Given the description of an element on the screen output the (x, y) to click on. 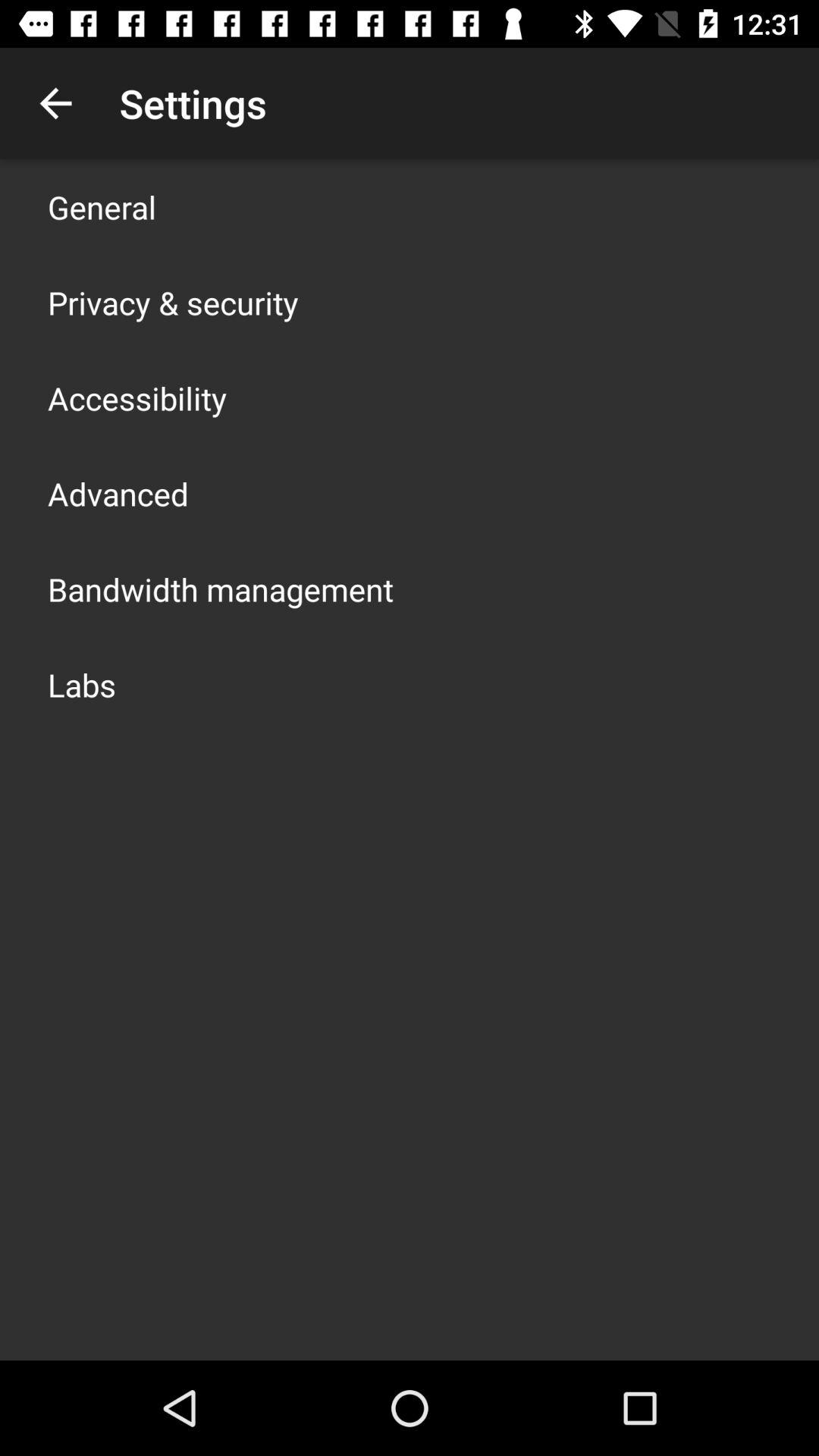
click the app above labs icon (220, 588)
